Given the description of an element on the screen output the (x, y) to click on. 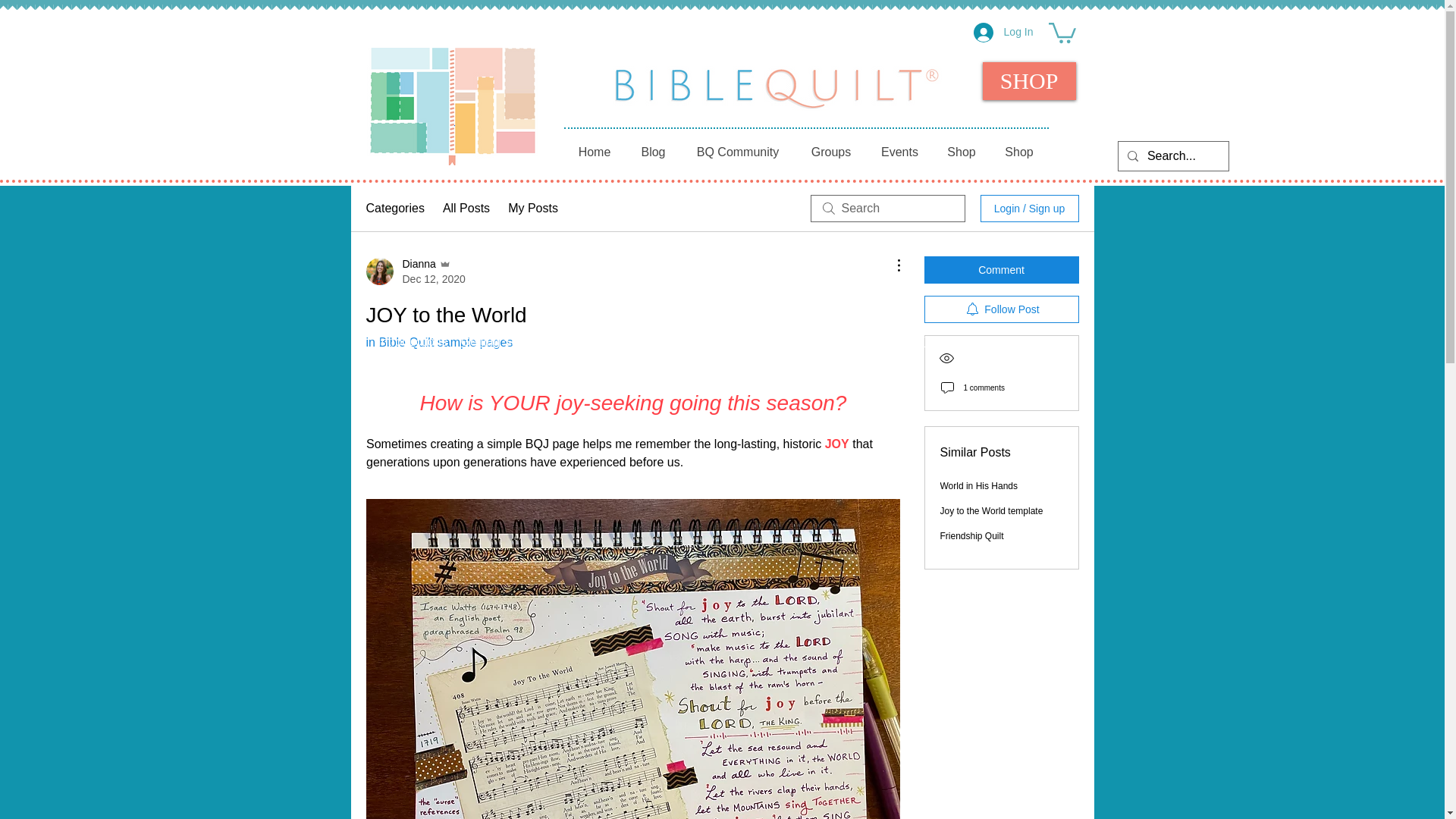
Events (898, 152)
Home (594, 152)
Categories (394, 208)
Comment (1000, 269)
Blog (652, 152)
SHOP (1028, 80)
in Bible Quilt sample pages (438, 341)
Log In (1002, 32)
BQ Community (736, 152)
